Given the description of an element on the screen output the (x, y) to click on. 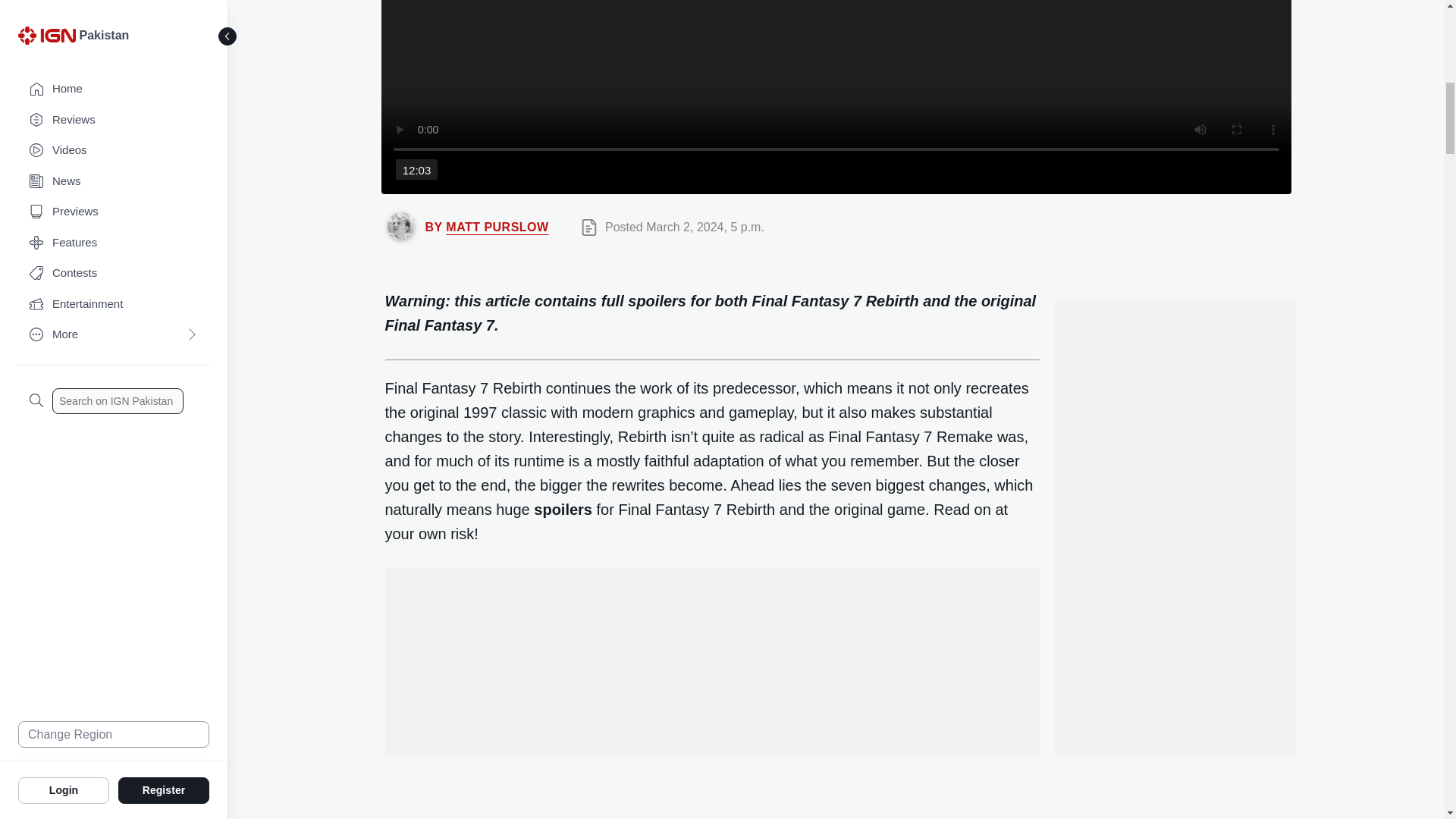
MATT PURSLOW (496, 226)
